Given the description of an element on the screen output the (x, y) to click on. 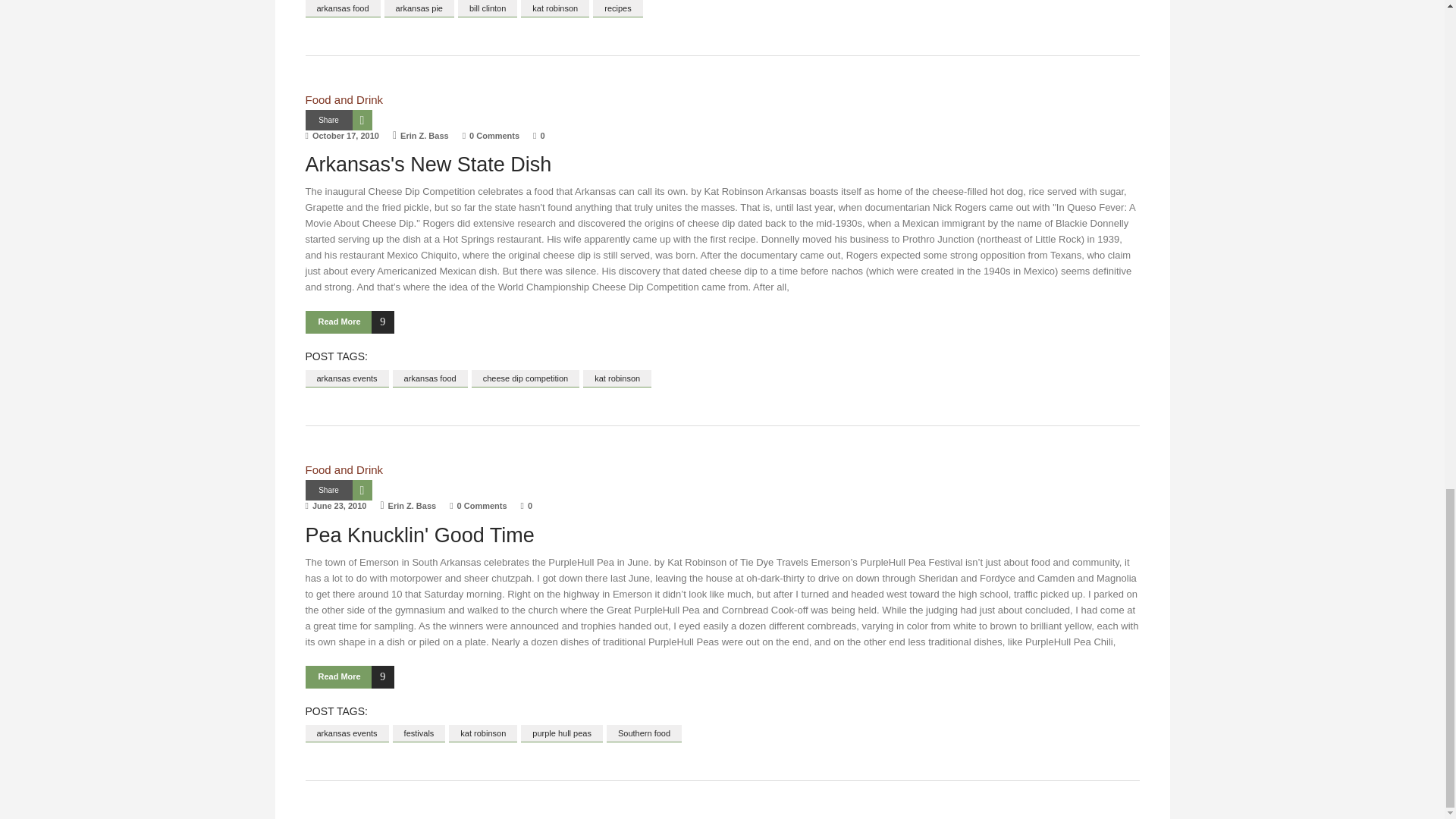
Arkansas's New State Dish (427, 164)
Like this (538, 135)
Pea Knucklin' Good Time (419, 535)
Like this (526, 505)
